Given the description of an element on the screen output the (x, y) to click on. 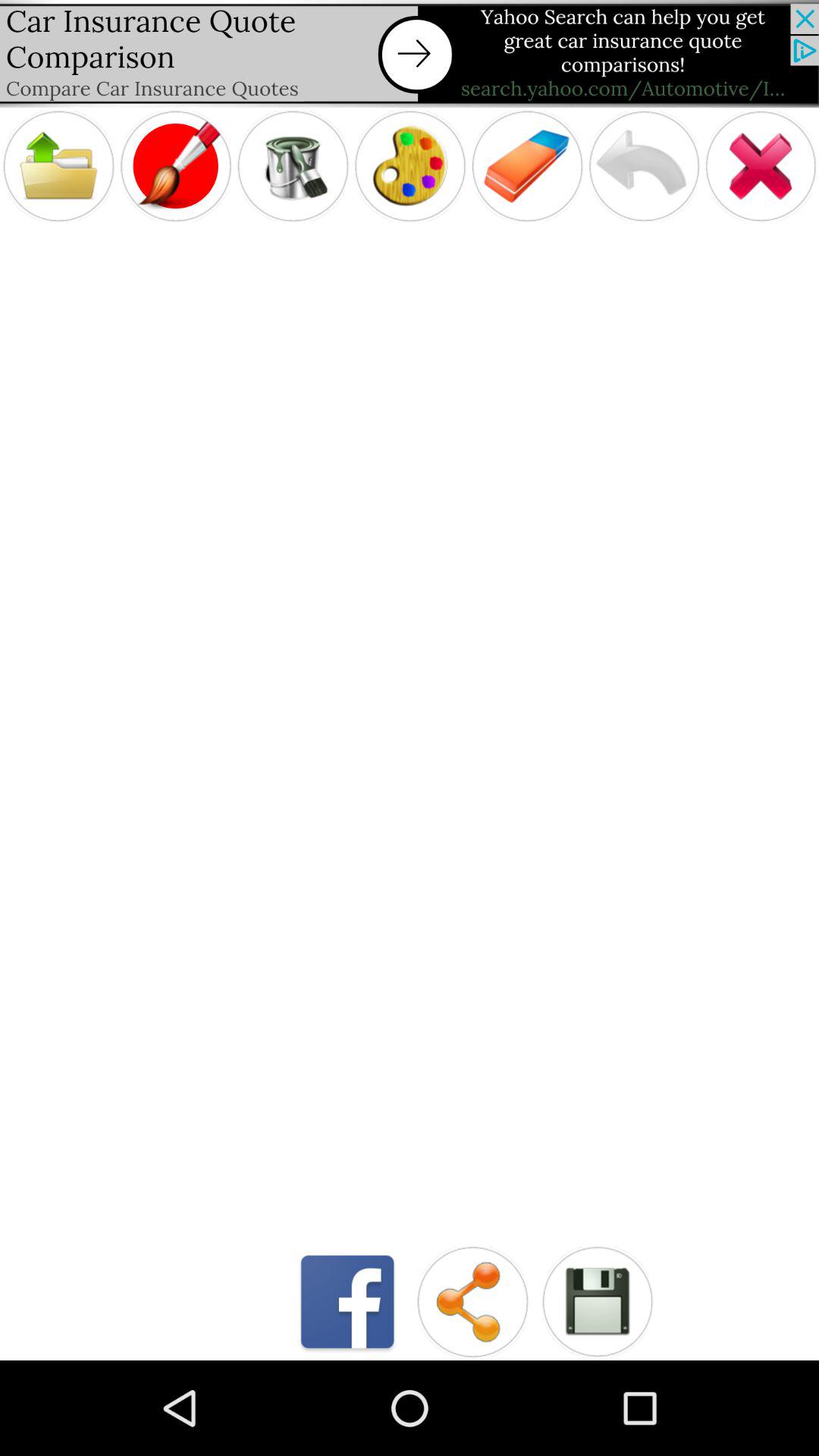
save the file (597, 1301)
